Given the description of an element on the screen output the (x, y) to click on. 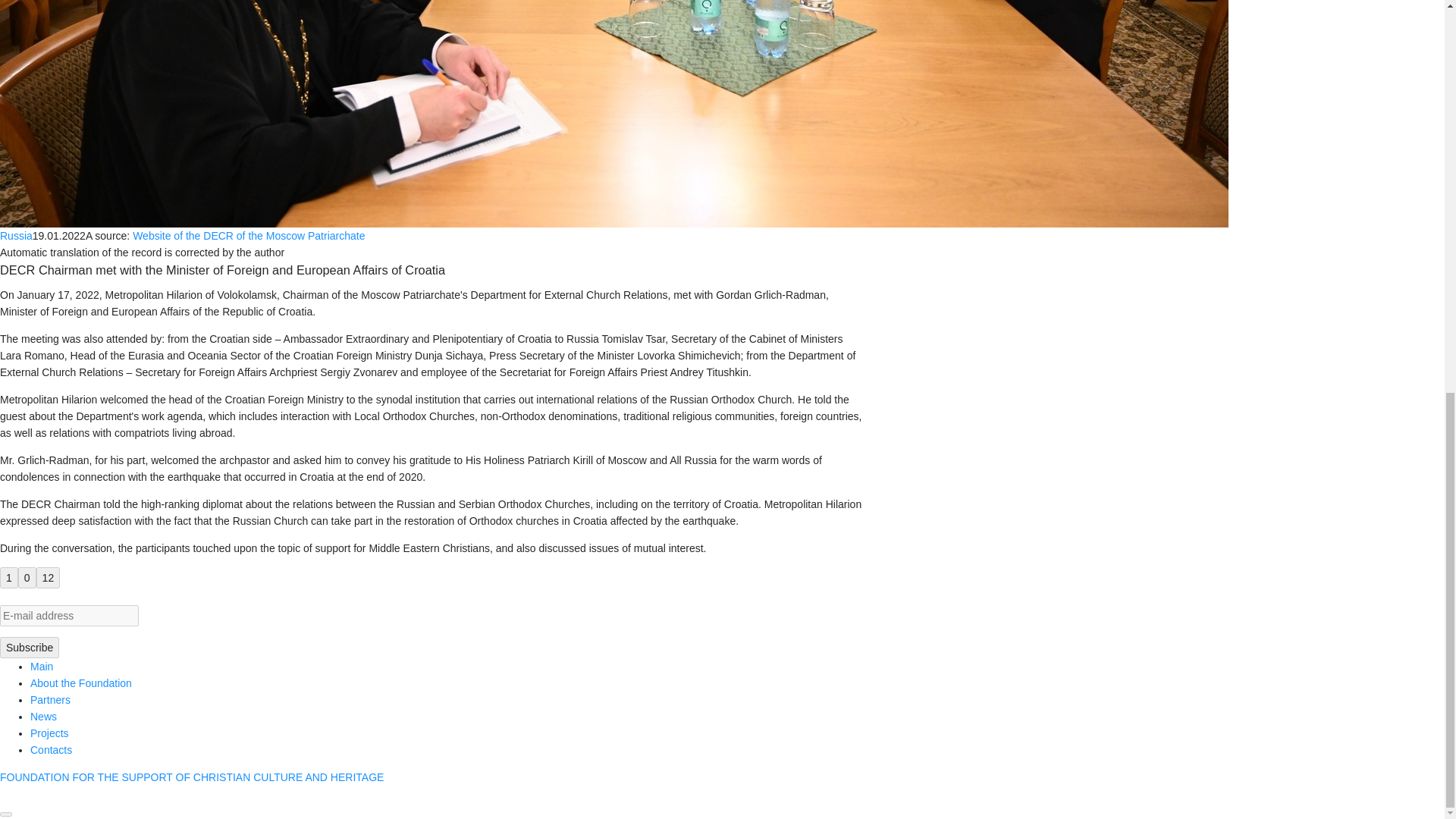
Projects (49, 733)
Partners (49, 699)
Website of the DECR of the Moscow Patriarchate (248, 235)
FOUNDATION FOR THE SUPPORT OF CHRISTIAN CULTURE AND HERITAGE (192, 776)
12 (48, 577)
Subscribe (29, 647)
About the Foundation (81, 683)
News (43, 716)
Contacts (50, 749)
Russia (16, 235)
